Given the description of an element on the screen output the (x, y) to click on. 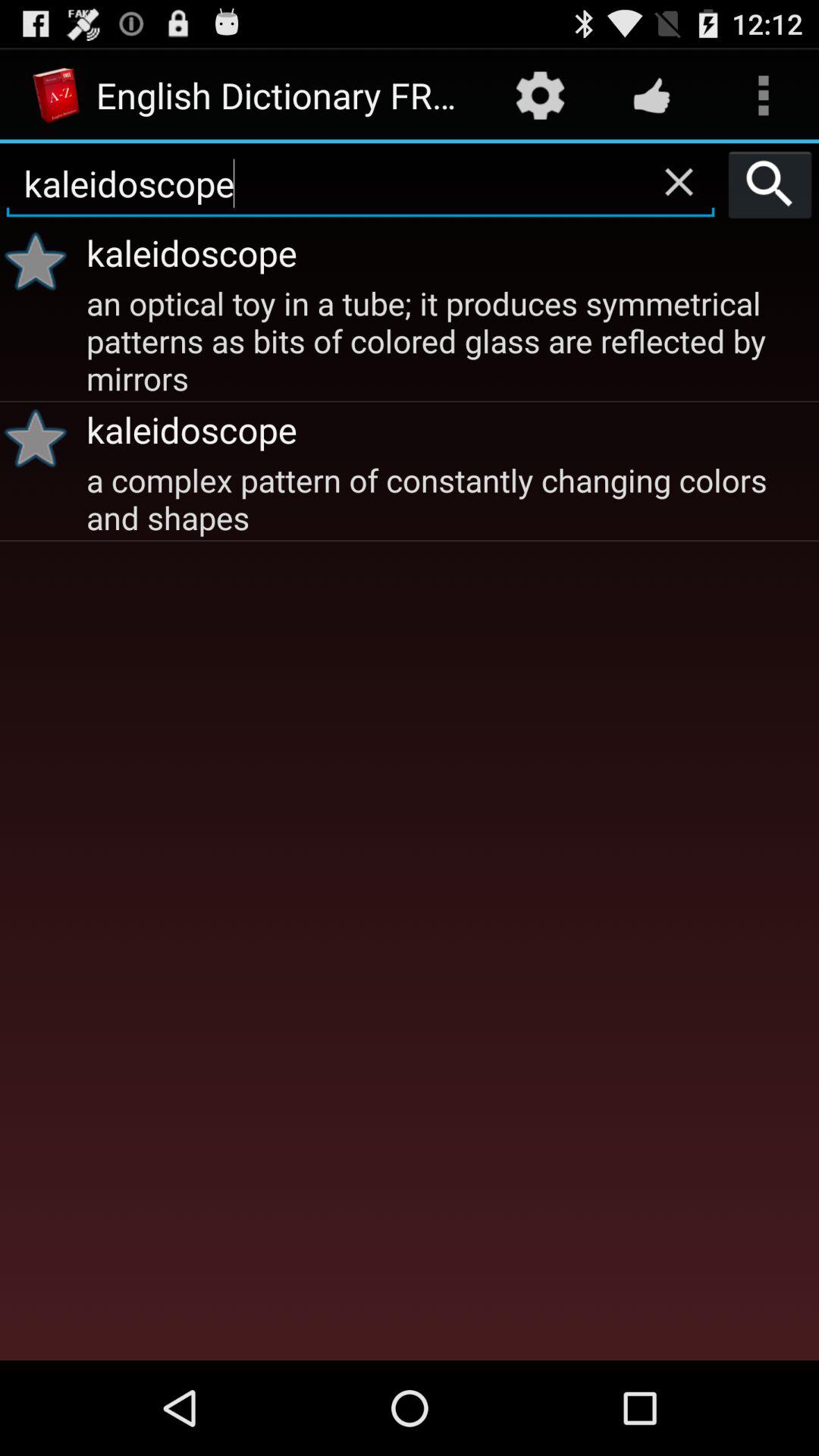
swipe until the a complex pattern (451, 497)
